Given the description of an element on the screen output the (x, y) to click on. 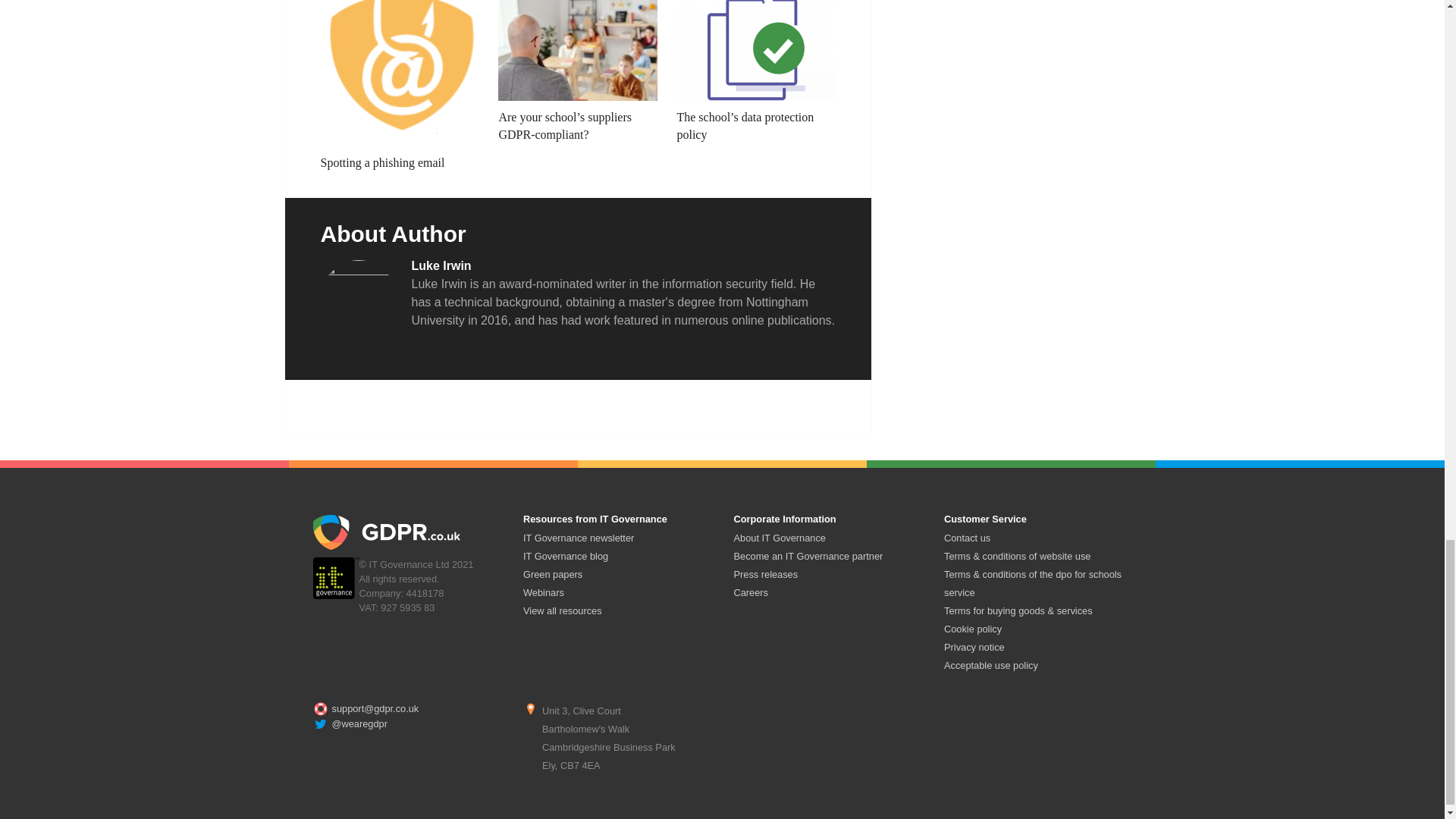
Spotting a phishing email (399, 85)
Spotting a phishing email (399, 85)
